Given the description of an element on the screen output the (x, y) to click on. 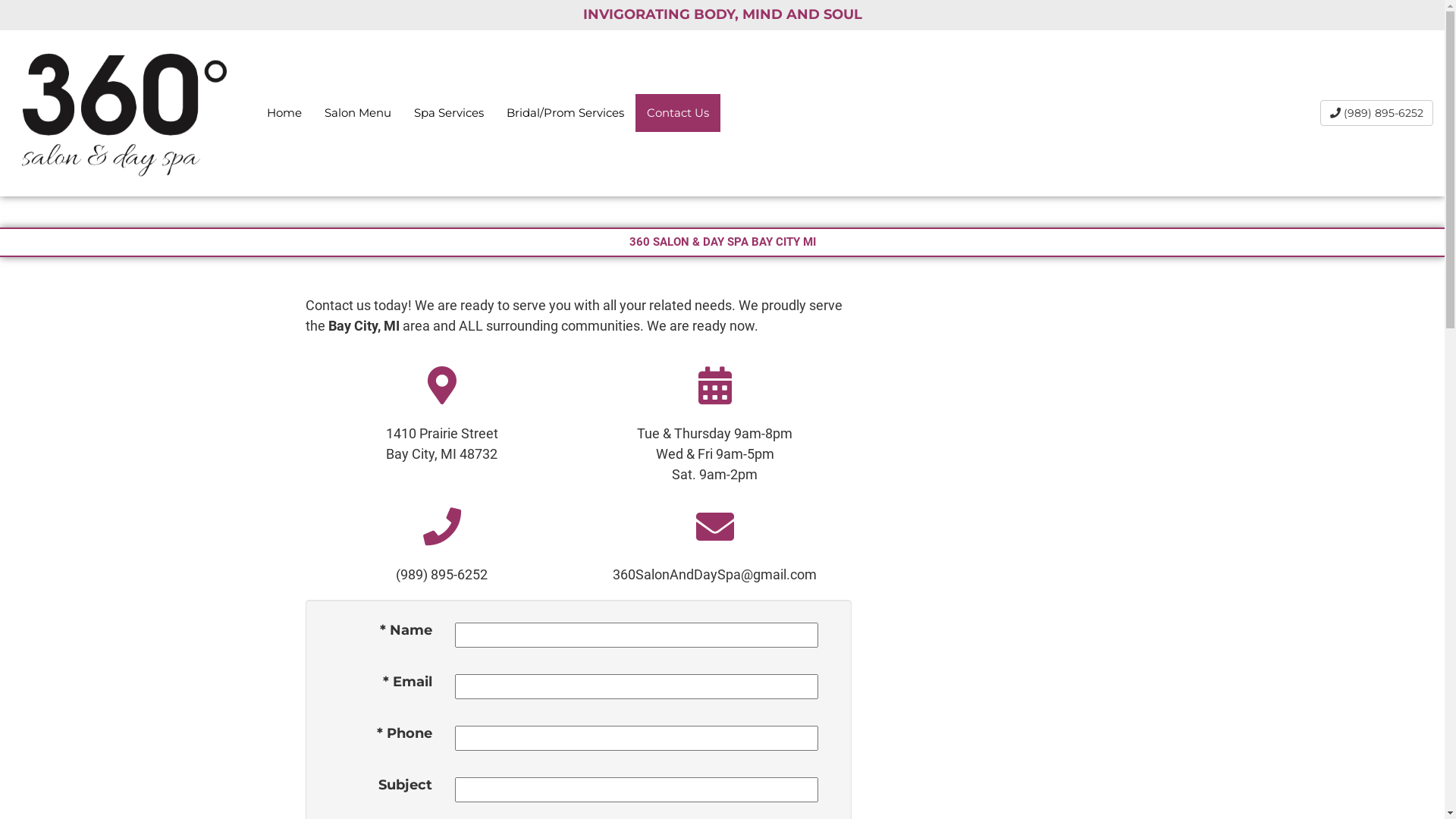
(989) 895-6252 Element type: text (1376, 112)
Contact Us Element type: text (677, 112)
Home Element type: text (284, 112)
(989) 895-6252 Element type: text (441, 574)
Salon Menu Element type: text (357, 112)
360SalonAndDaySpa@gmail.com Element type: text (714, 574)
Spa Services Element type: text (448, 112)
360 Salon & Day Spa Element type: hover (120, 112)
Bridal/Prom Services Element type: text (565, 112)
